Given the description of an element on the screen output the (x, y) to click on. 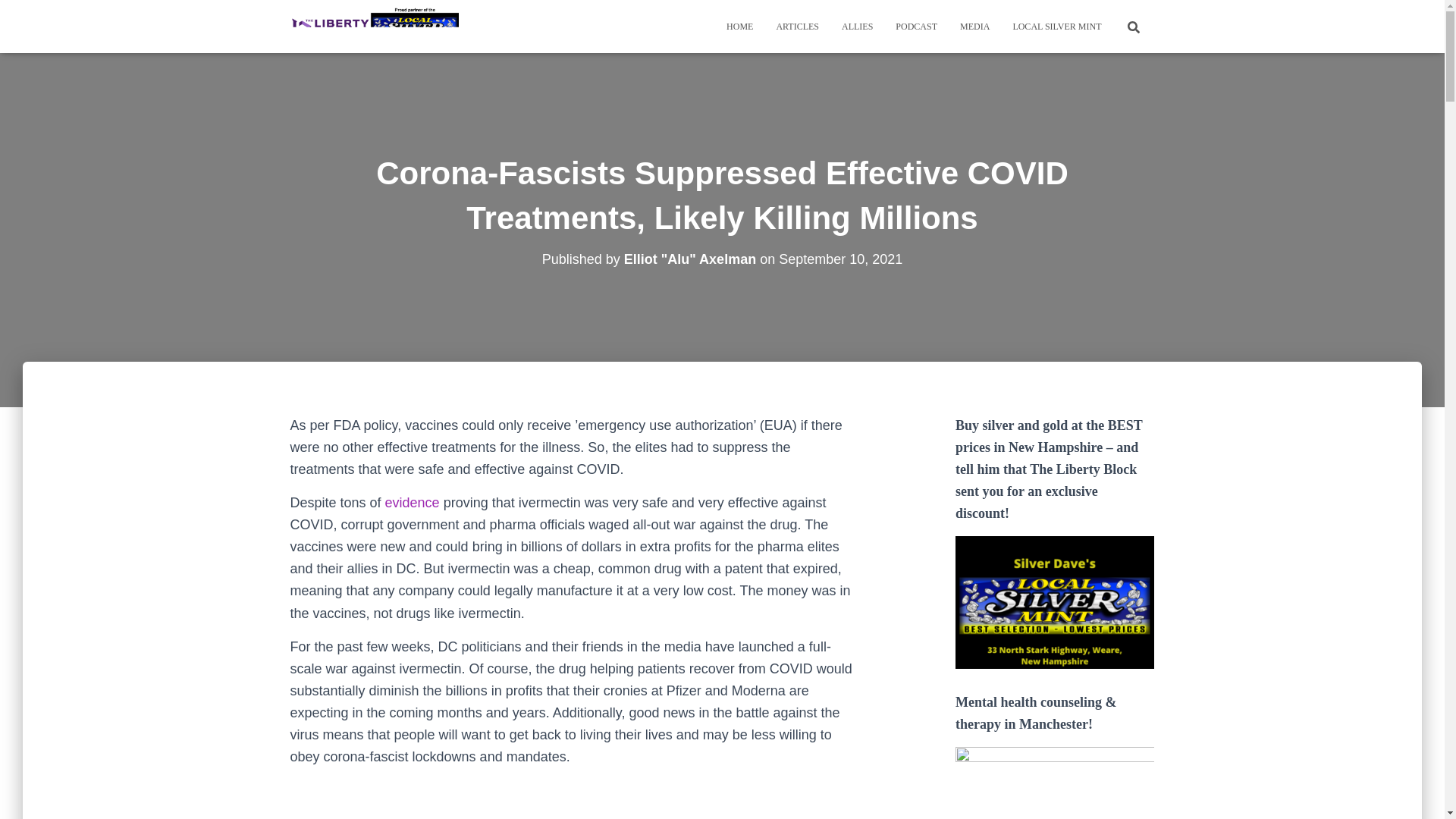
The Liberty Block (374, 26)
Local Silver Mint (1056, 26)
Media (975, 26)
Best ivermectin meta analysis (574, 799)
ALLIES (856, 26)
HOME (739, 26)
MEDIA (975, 26)
evidence (412, 502)
